Given the description of an element on the screen output the (x, y) to click on. 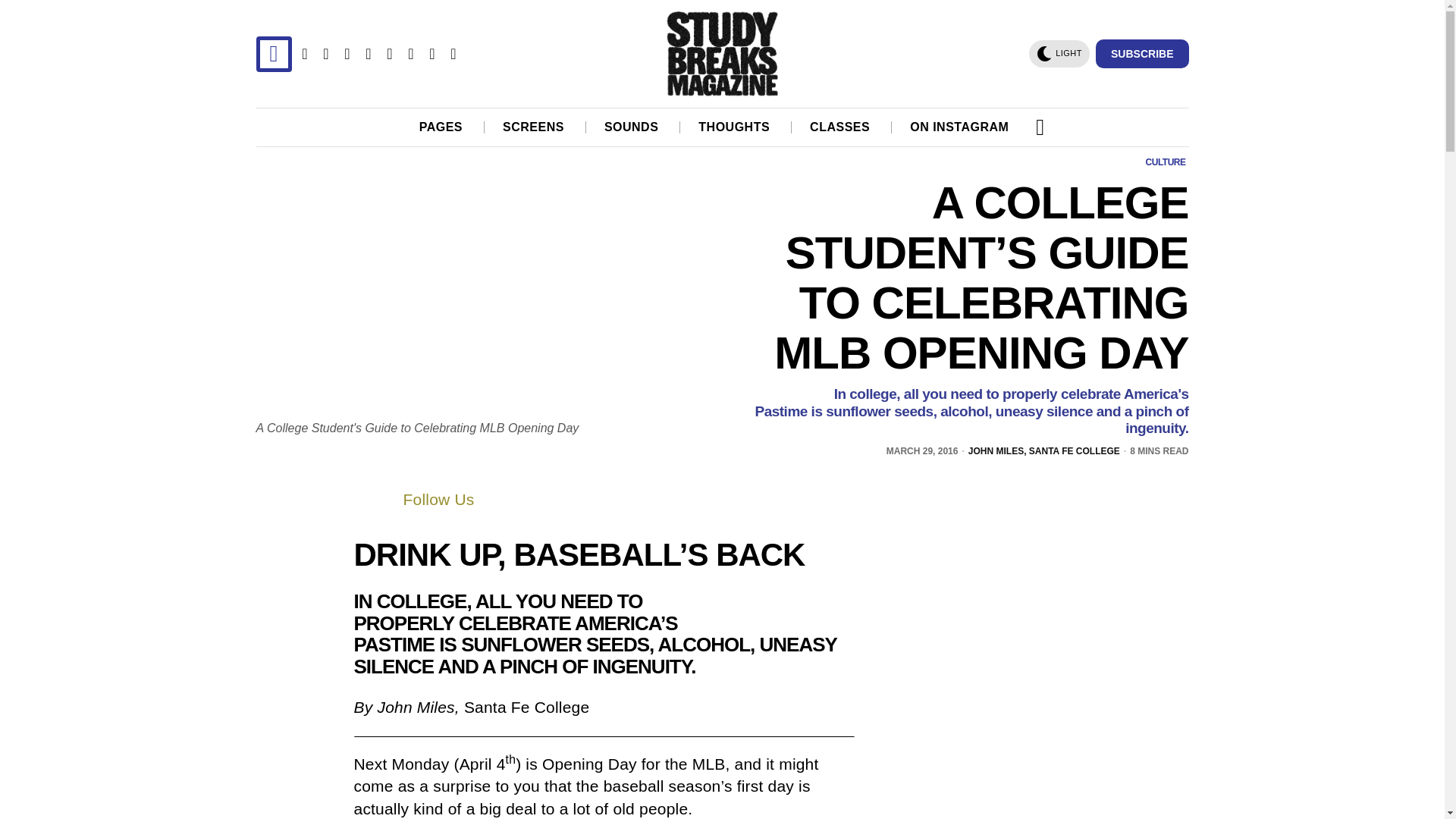
SUBSCRIBE (1142, 53)
29 Mar, 2016 12:56:30 (922, 451)
CLASSES (840, 127)
PAGES (441, 127)
SOUNDS (632, 127)
ON INSTAGRAM (960, 127)
THOUGHTS (734, 127)
SCREENS (534, 127)
